Given the description of an element on the screen output the (x, y) to click on. 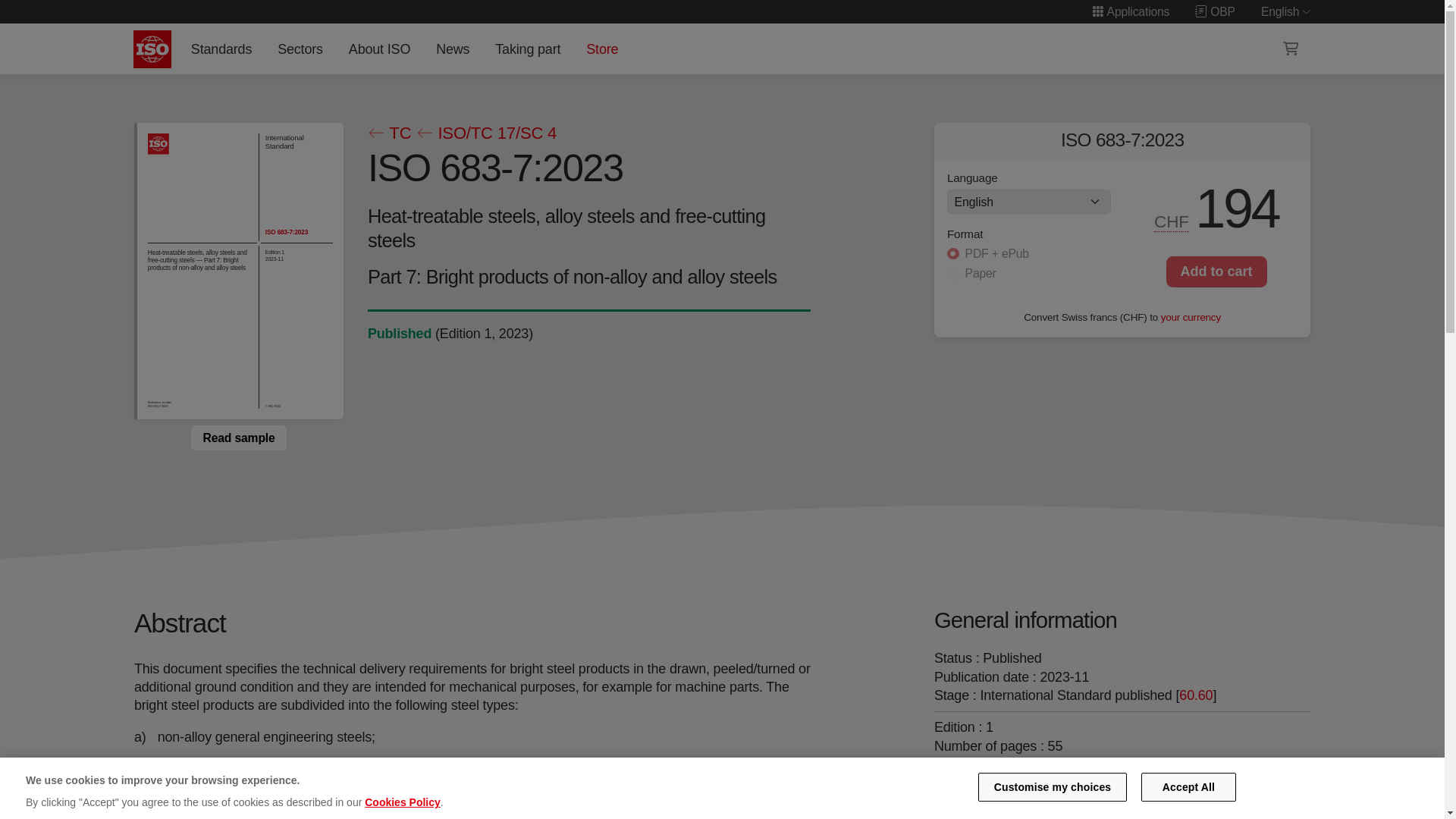
 Applications (1130, 11)
Life cycle (398, 333)
ISO's applications portal (1130, 11)
Store (601, 48)
77.140.10 (997, 795)
News (452, 48)
Read sample (237, 437)
Published (398, 333)
60.60 (1195, 694)
Standards (220, 48)
Swiss francs (1171, 221)
Heat treatable and alloy steels (1117, 777)
Sectors (300, 48)
